Given the description of an element on the screen output the (x, y) to click on. 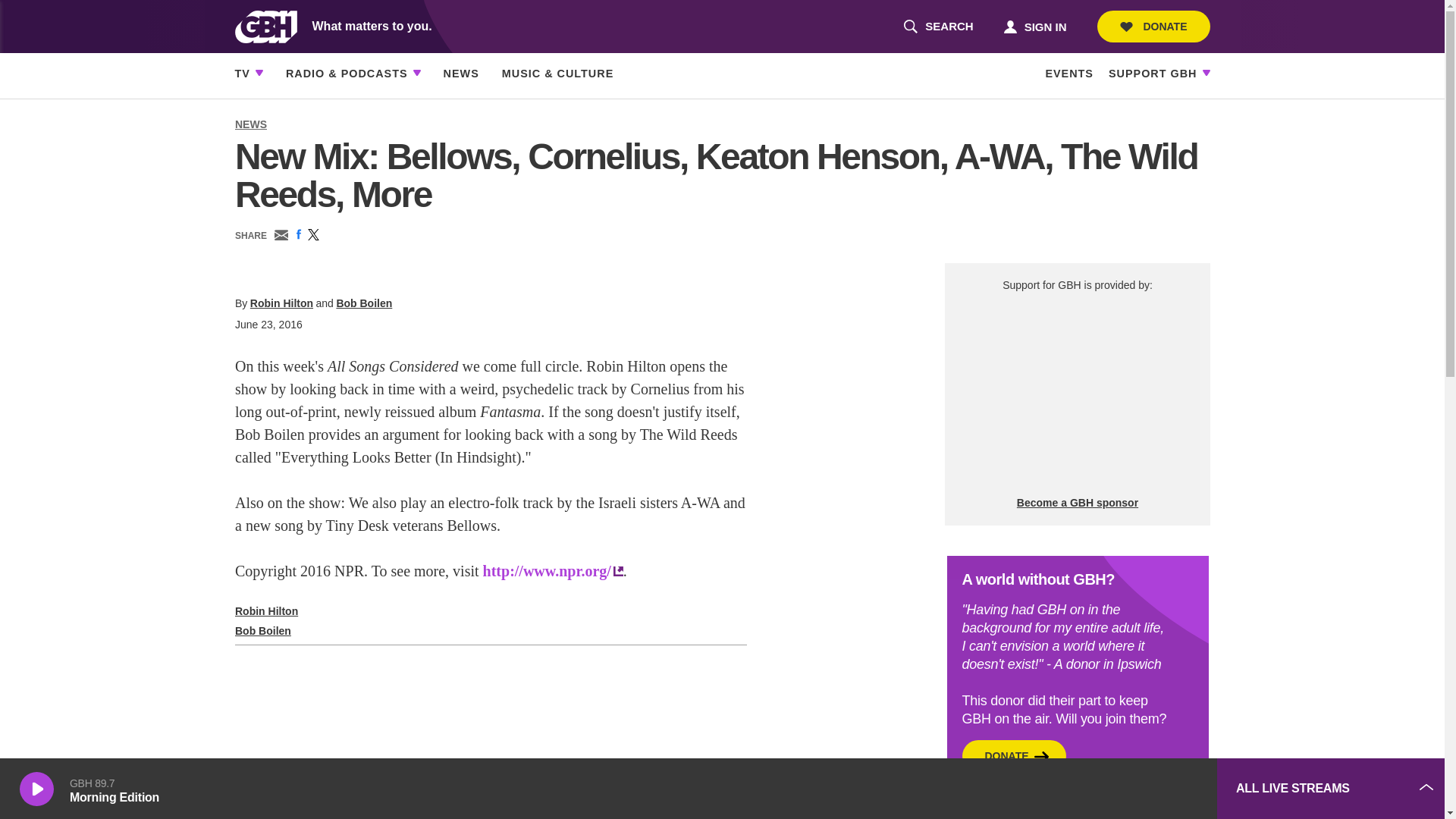
3rd party ad content (1091, 788)
SIGN IN (1034, 25)
DONATE (1153, 26)
3rd party ad content (1076, 393)
